Given the description of an element on the screen output the (x, y) to click on. 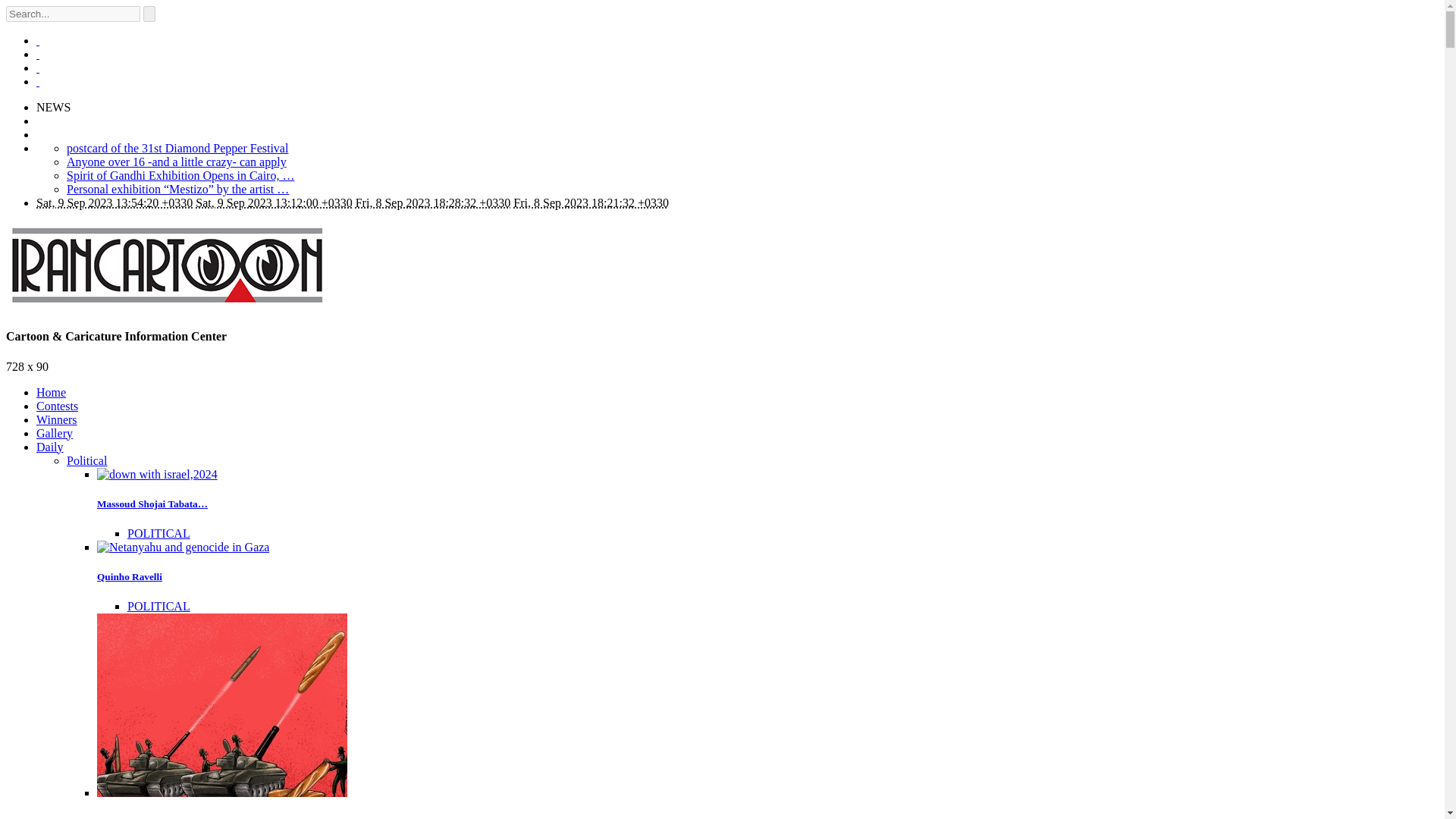
down with israel,2024 (156, 473)
Winners (56, 419)
Anyone over 16 -and a little crazy- can apply (176, 161)
Winners (56, 419)
Marcelo Chamorro (138, 817)
Spirit of Gandhi Exhibition Opens in Cairo, September 2023 (180, 174)
Gallery (54, 432)
Political (86, 460)
postcard of the 31st Diamond Pepper Festival (177, 147)
Daily (50, 446)
Home (50, 391)
Contests (57, 405)
Contests (57, 405)
Anyone over 16 -and a little crazy- can apply (176, 161)
Home (50, 391)
